Given the description of an element on the screen output the (x, y) to click on. 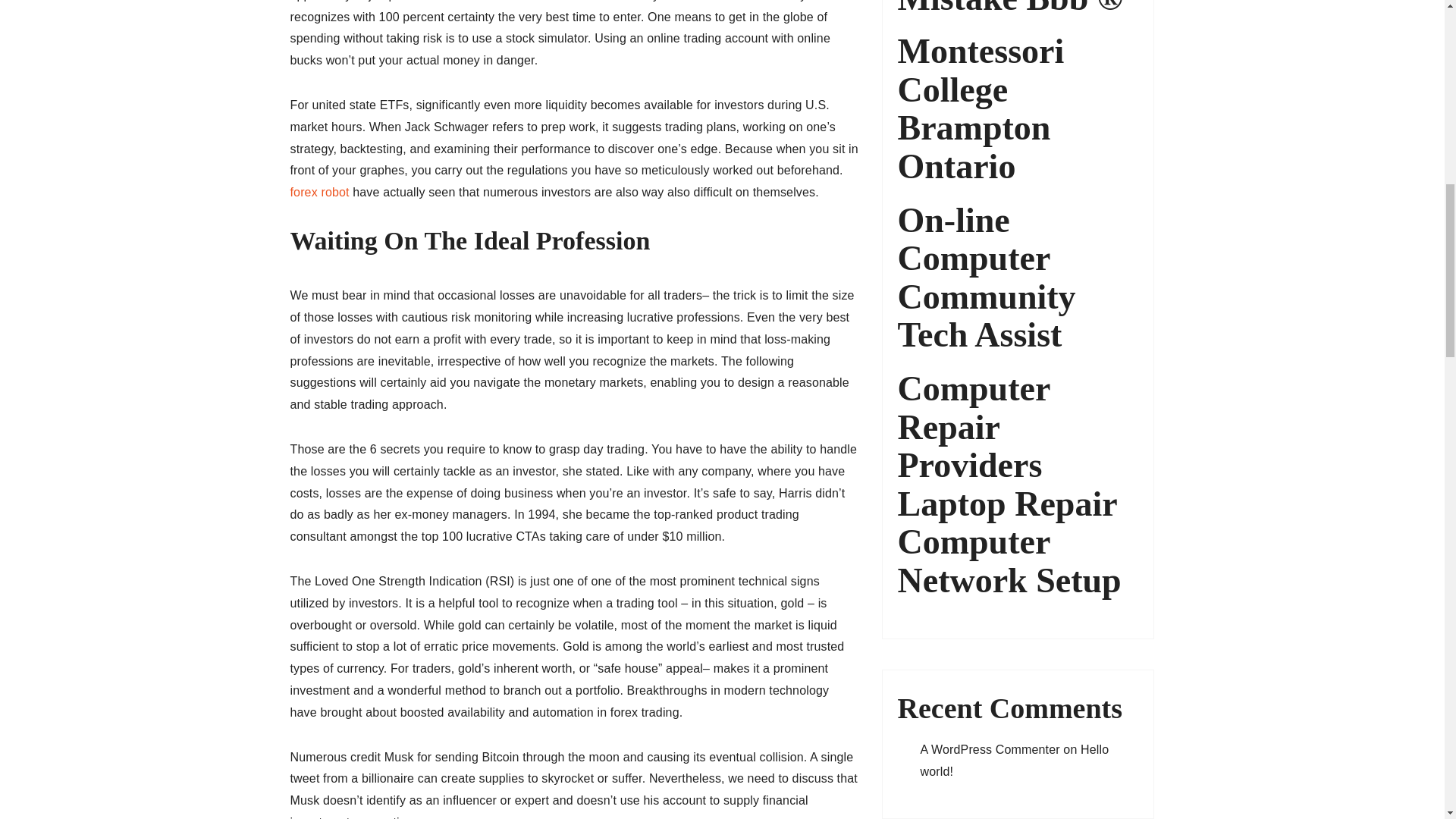
forex robot (319, 192)
A WordPress Commenter (989, 748)
On-line Computer Community Tech Assist (1018, 277)
Hello world! (1014, 760)
Montessori College Brampton Ontario (1018, 108)
